Given the description of an element on the screen output the (x, y) to click on. 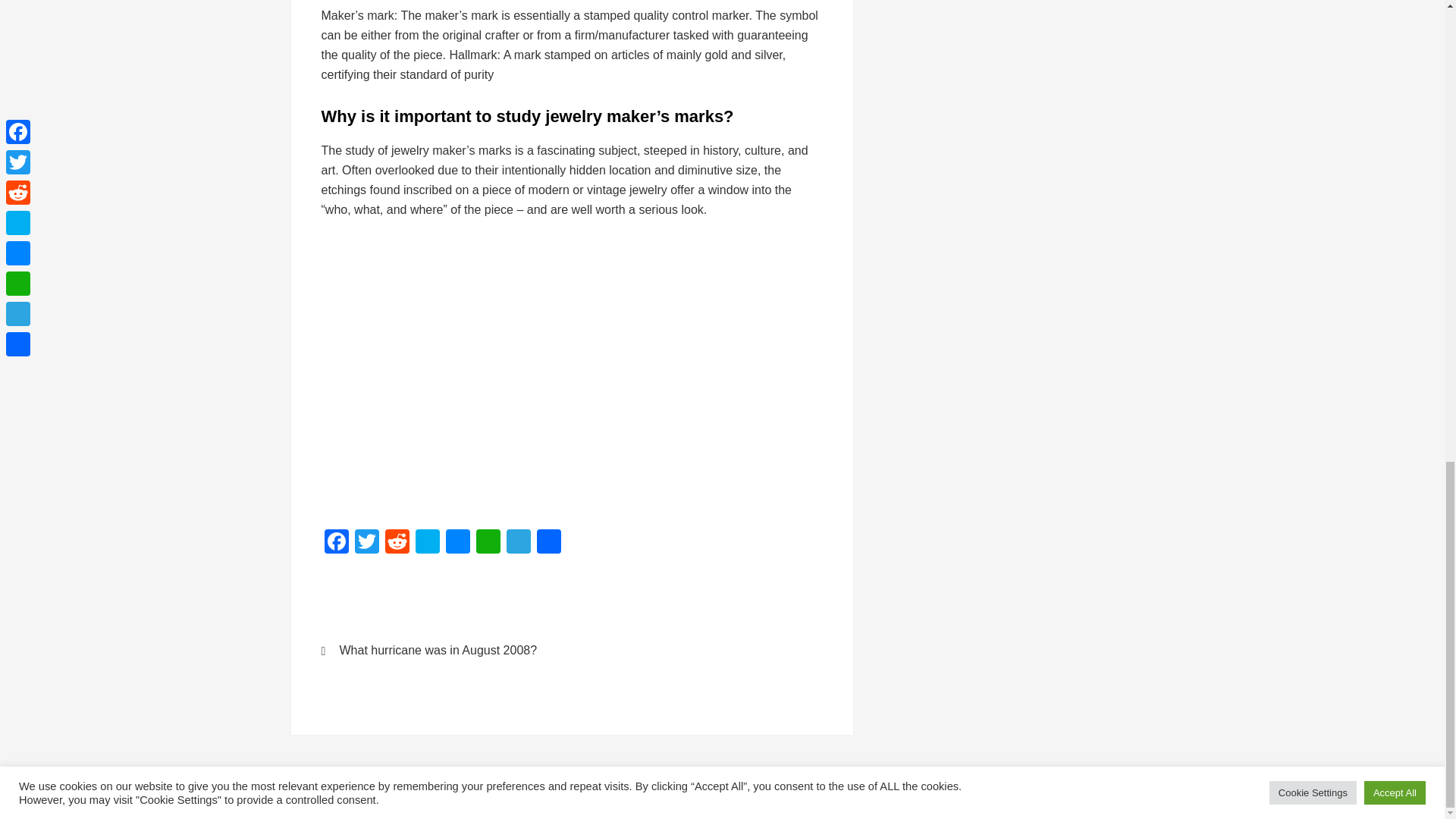
WhatsApp (488, 543)
Facebook (336, 543)
Skype (427, 543)
Messenger (457, 543)
Twitter (366, 543)
Twitter (366, 543)
WhatsApp (488, 543)
WordPress (838, 797)
Skype (427, 543)
ThemeCountry (716, 797)
BasePress - The best free WordPress blog theme for WordPress (716, 797)
What hurricane was in August 2008? (436, 650)
Messenger (457, 543)
Reddit (396, 543)
How to recognize Jewelry marks and know what they mean. (563, 371)
